Given the description of an element on the screen output the (x, y) to click on. 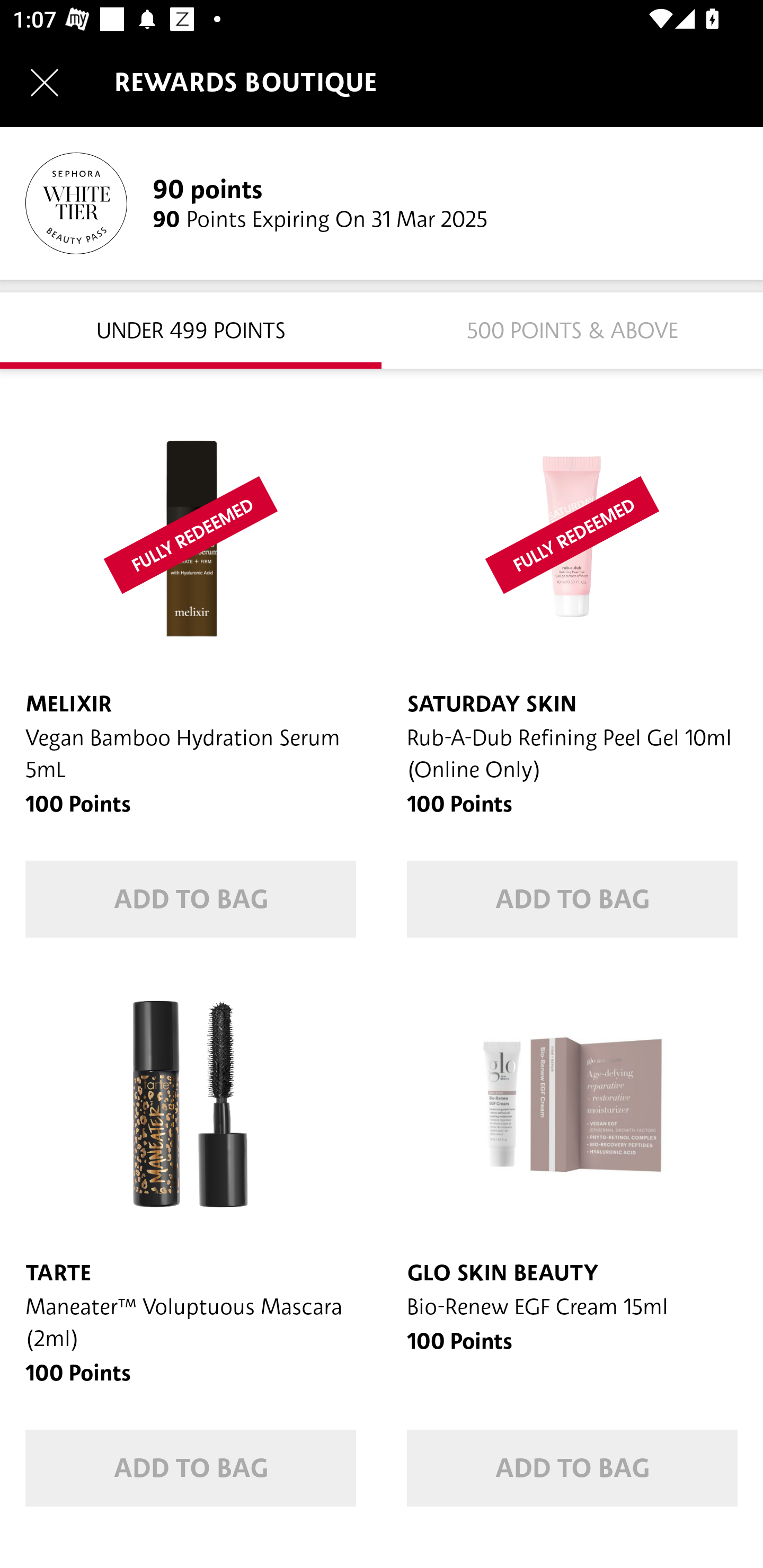
Navigate up (44, 82)
500 Points & Above 500 POINTS & ABOVE (572, 329)
ADD TO BAG (190, 898)
ADD TO BAG (571, 898)
ADD TO BAG (190, 1468)
ADD TO BAG (571, 1468)
